Given the description of an element on the screen output the (x, y) to click on. 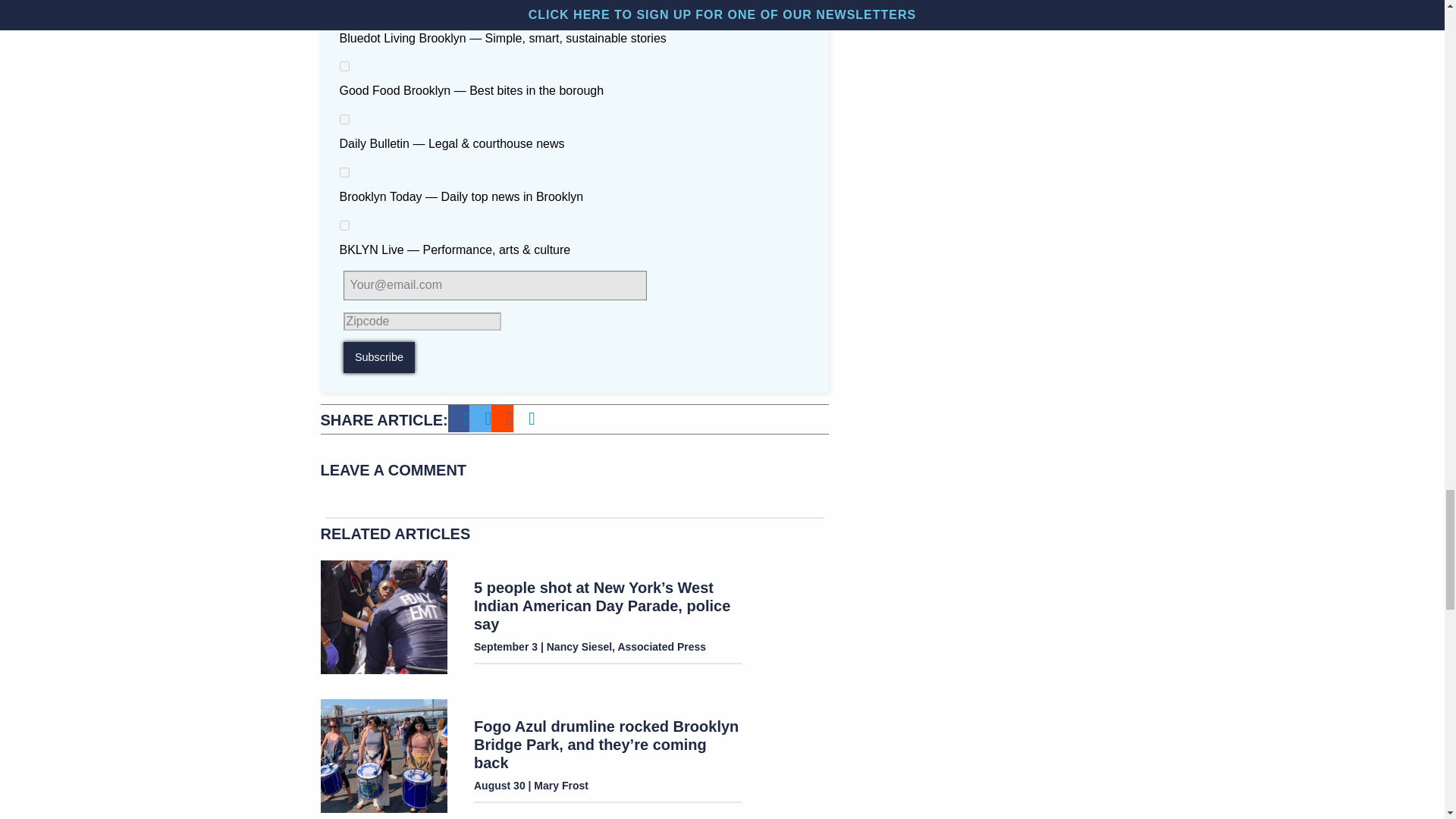
BKLYN Live: Arts and Culture (344, 225)
Daily Bulletin: Legal News (344, 119)
Bluedot Living Brooklyn: Simple, Smart, Sustainable Stories (344, 13)
Leave a Comment (574, 473)
Good Food Brooklyn (344, 66)
Brooklyn Today (344, 172)
Subscribe (378, 357)
Share by Email (531, 418)
